Given the description of an element on the screen output the (x, y) to click on. 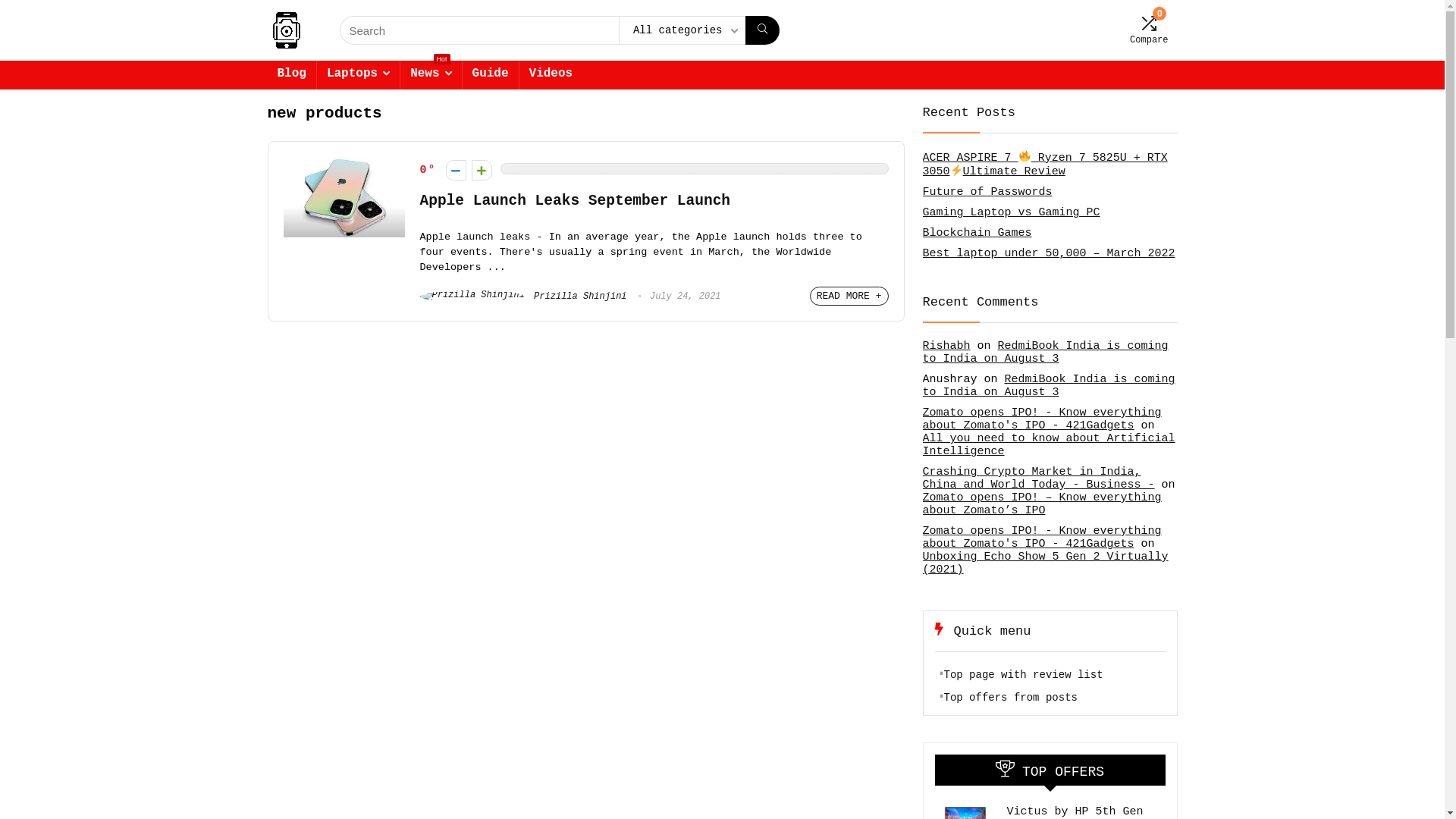
Guide Element type: text (490, 74)
Rishabh Element type: text (945, 345)
All you need to know about Artificial Intelligence Element type: text (1048, 445)
Top page with review list Element type: text (1022, 674)
READ MORE + Element type: text (848, 295)
Apple Launch Leaks September Launch Element type: text (575, 200)
Top offers from posts Element type: text (1009, 697)
RedmiBook India is coming to India on August 3 Element type: text (1048, 385)
Blockchain Games Element type: text (976, 232)
Vote down Element type: hover (455, 170)
Laptops Element type: text (357, 74)
Videos Element type: text (551, 74)
Vote up Element type: hover (481, 170)
RedmiBook India is coming to India on August 3 Element type: text (1044, 352)
Prizilla Shinjini Element type: text (523, 296)
ACER ASPIRE 7 Ryzen 7 5825U + RTX 3050Ultimate Review Element type: text (1044, 164)
News
Hot Element type: text (430, 74)
Blog Element type: text (290, 74)
Gaming Laptop vs Gaming PC Element type: text (1010, 212)
Unboxing Echo Show 5 Gen 2 Virtually (2021) Element type: text (1044, 563)
Future of Passwords Element type: text (986, 191)
